Given the description of an element on the screen output the (x, y) to click on. 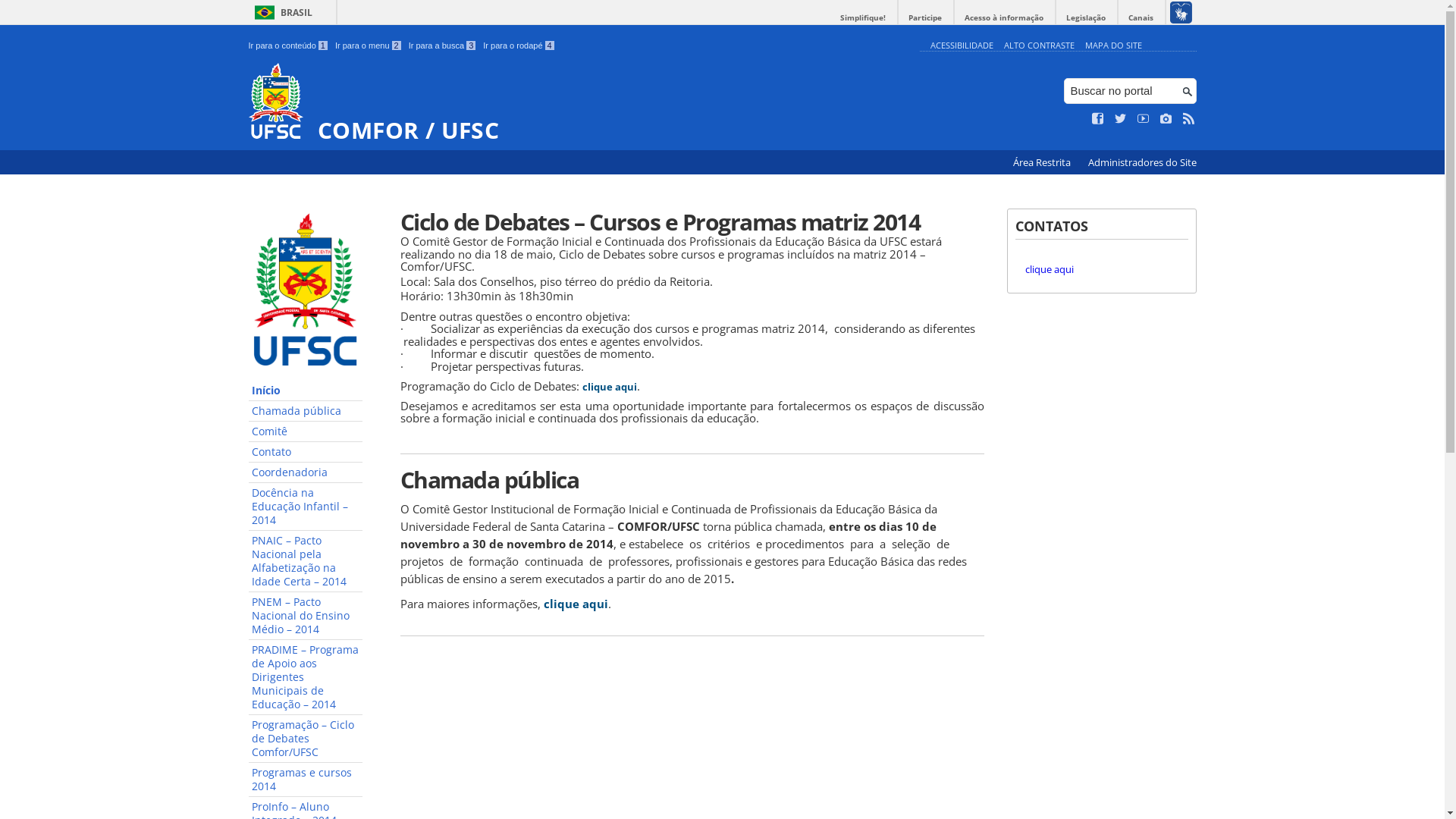
Ir para o menu 2 Element type: text (368, 45)
Curta no Facebook Element type: hover (1098, 118)
BRASIL Element type: text (280, 12)
clique aqui Element type: text (609, 386)
ACESSIBILIDADE Element type: text (960, 44)
Siga no Twitter Element type: hover (1120, 118)
MAPA DO SITE Element type: text (1112, 44)
Canais Element type: text (1140, 18)
Coordenadoria Element type: text (305, 472)
Veja no Instagram Element type: hover (1166, 118)
Simplifique! Element type: text (862, 18)
clique aqui Element type: text (1049, 269)
ALTO CONTRASTE Element type: text (1039, 44)
Programas e cursos 2014 Element type: text (305, 779)
Ir para a busca 3 Element type: text (442, 45)
Contato Element type: text (305, 452)
COMFOR / UFSC Element type: text (580, 102)
Participe Element type: text (924, 18)
Administradores do Site Element type: text (1141, 162)
clique aqui Element type: text (574, 603)
